Given the description of an element on the screen output the (x, y) to click on. 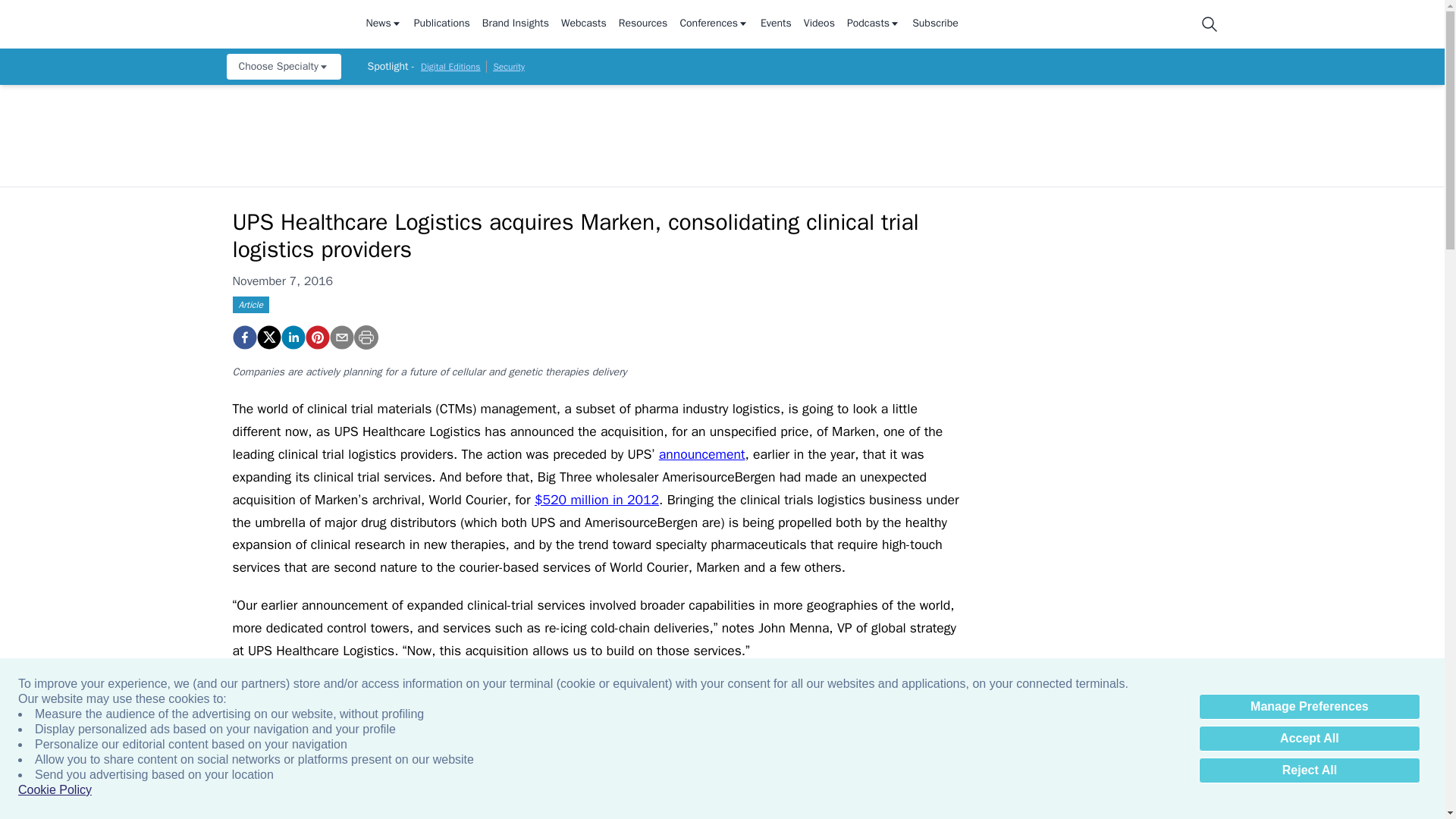
Events (776, 23)
Webcasts (583, 23)
Resources (643, 23)
Podcasts (873, 23)
Videos (818, 23)
Choose Specialty (282, 66)
Accept All (1309, 738)
Reject All (1309, 769)
Cookie Policy (54, 789)
